Given the description of an element on the screen output the (x, y) to click on. 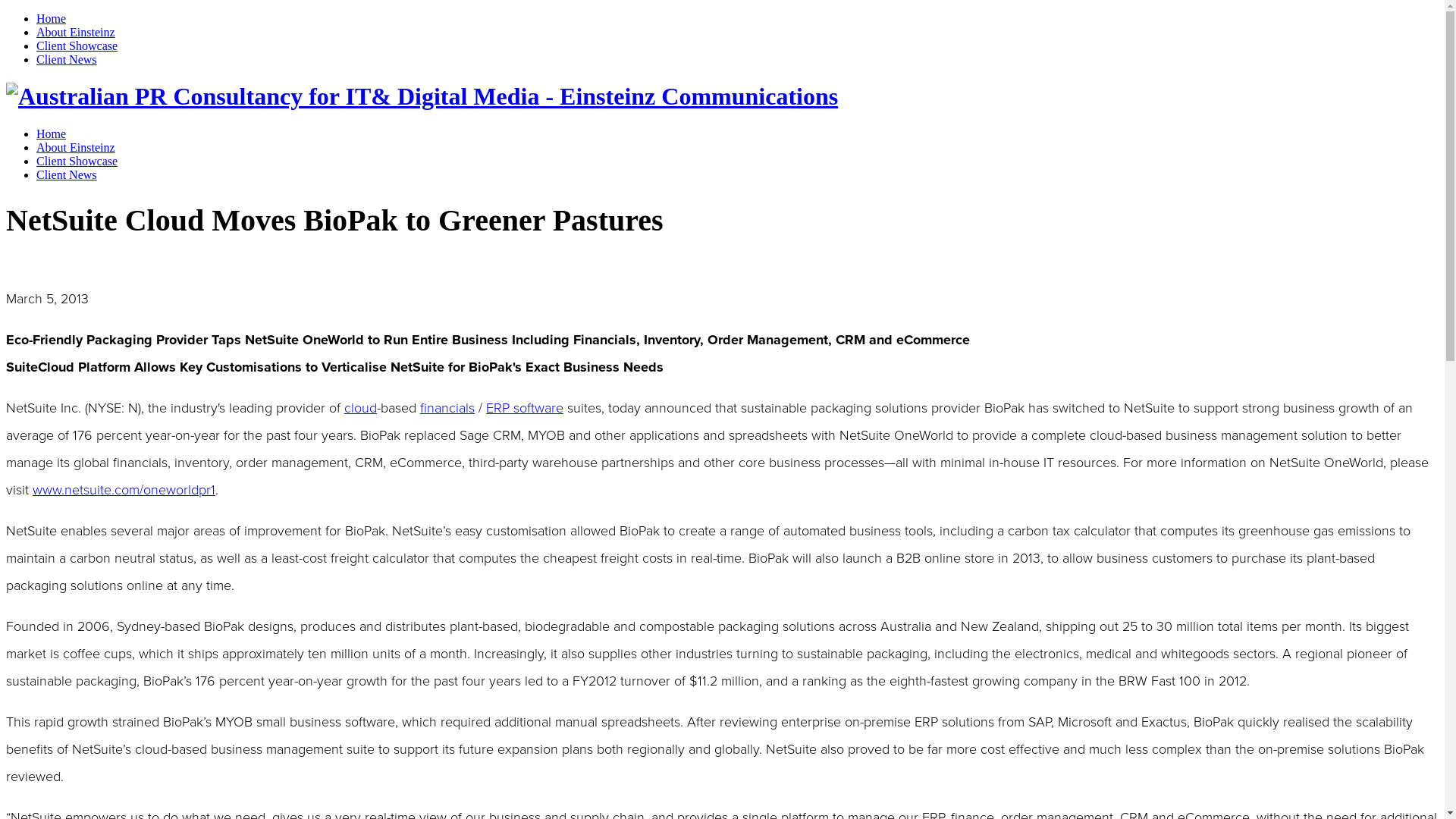
Client Showcase Element type: text (76, 45)
About Einsteinz Element type: text (75, 147)
www.netsuite.com/oneworldpr1 Element type: text (123, 489)
Home Element type: text (50, 18)
financials Element type: text (447, 407)
Client Showcase Element type: text (76, 160)
About Einsteinz Element type: text (75, 31)
Client News Element type: text (66, 59)
cloud Element type: text (360, 407)
Client News Element type: text (66, 174)
Home Element type: text (50, 133)
ERP software Element type: text (524, 407)
